Given the description of an element on the screen output the (x, y) to click on. 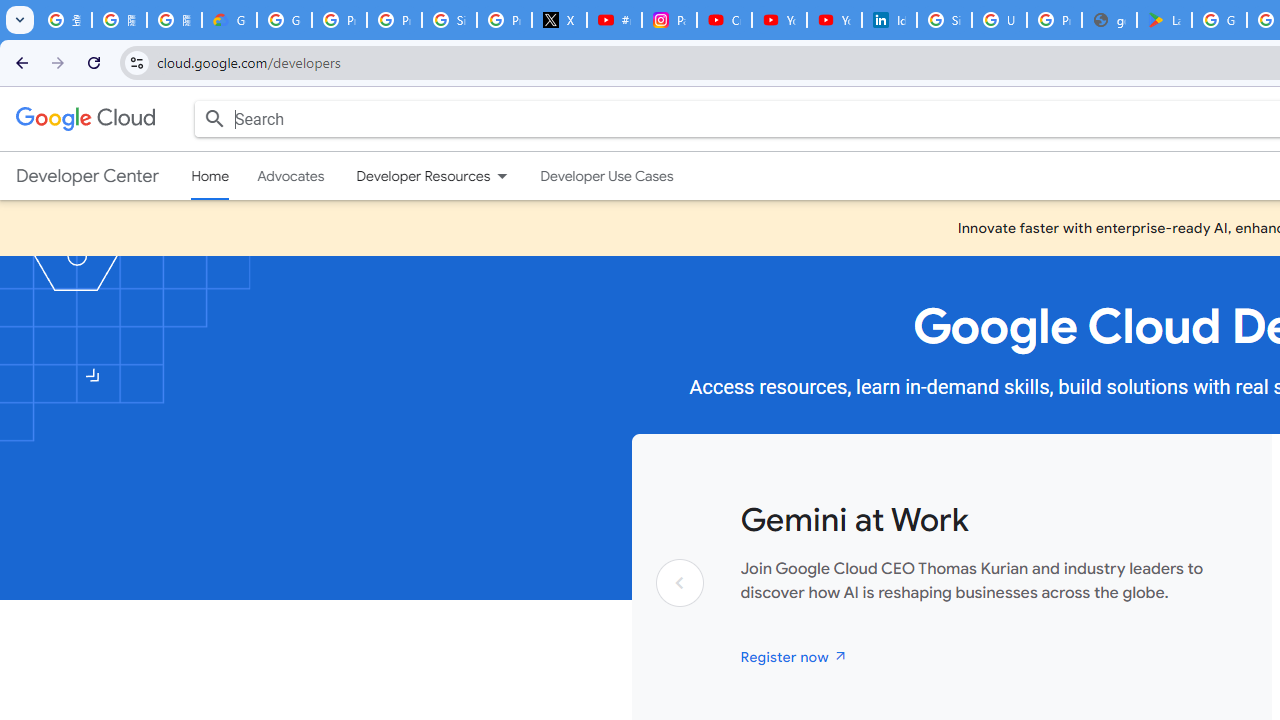
Advocates (291, 175)
Sign in - Google Accounts (943, 20)
Register now (793, 656)
google_privacy_policy_en.pdf (1108, 20)
#nbabasketballhighlights - YouTube (614, 20)
Google Cloud (84, 118)
Sign in - Google Accounts (449, 20)
